Given the description of an element on the screen output the (x, y) to click on. 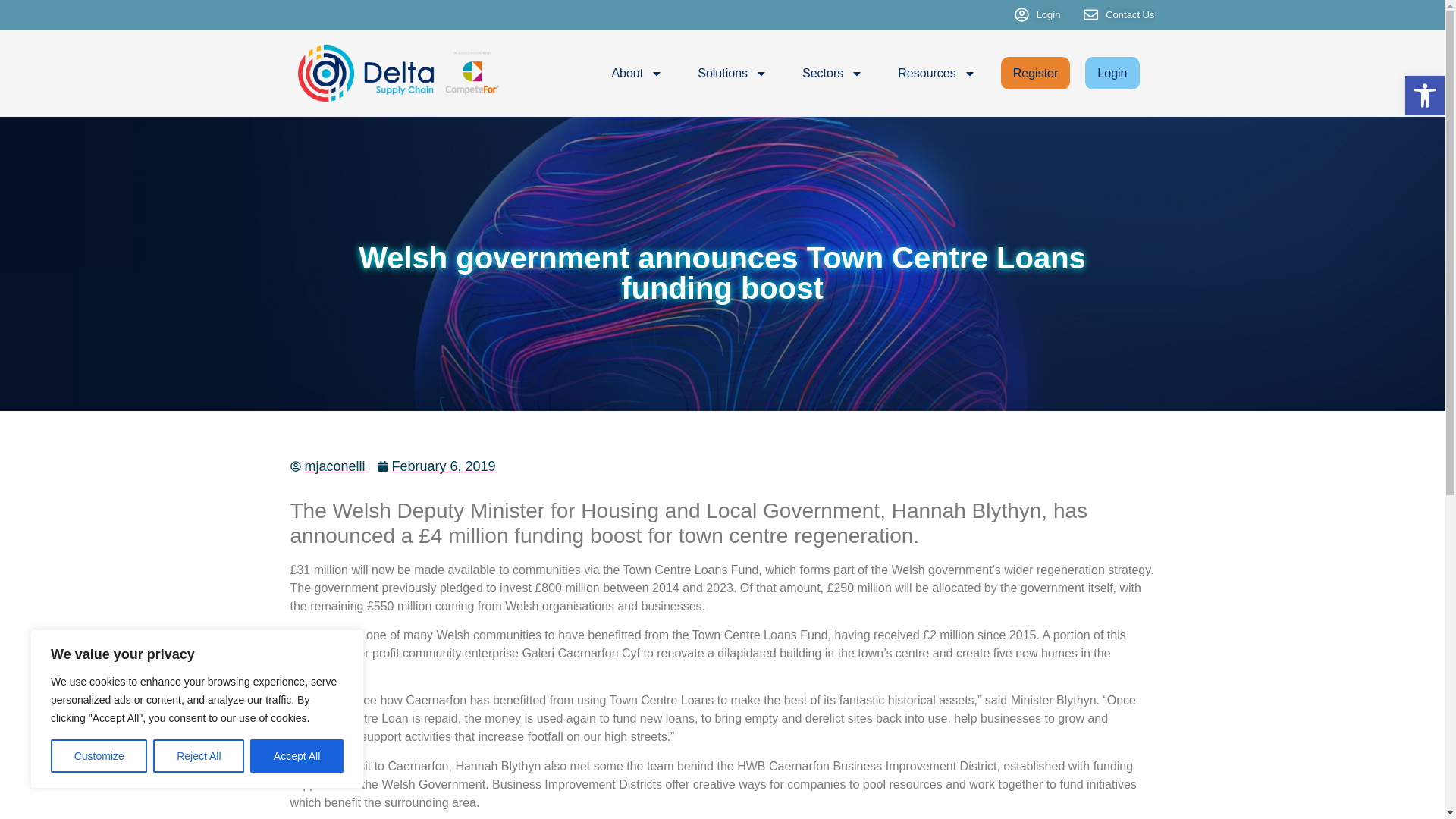
Contact Us (1118, 14)
Login (1037, 14)
Accept All (296, 756)
Reject All (198, 756)
Solutions (731, 72)
Customize (98, 756)
About (636, 72)
Accessibility Tools (1424, 95)
Sectors (832, 72)
